Given the description of an element on the screen output the (x, y) to click on. 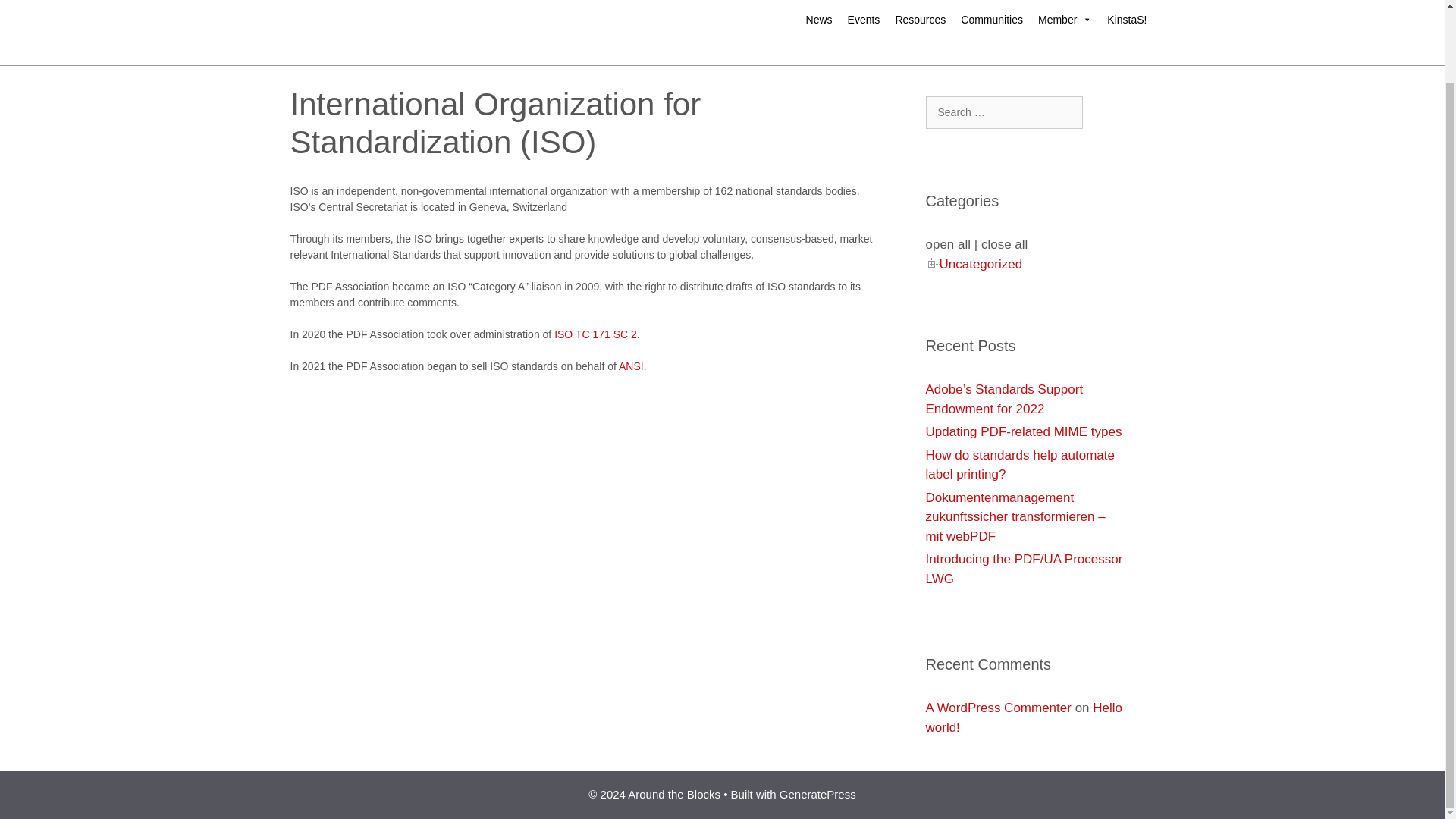
Search for: (1002, 112)
Resources (919, 19)
Uncategorized (980, 263)
Events (864, 19)
open all (947, 244)
KinstaS! (1053, 13)
open all (947, 244)
News (818, 19)
KinstaS! (1126, 19)
Member (1064, 19)
